Given the description of an element on the screen output the (x, y) to click on. 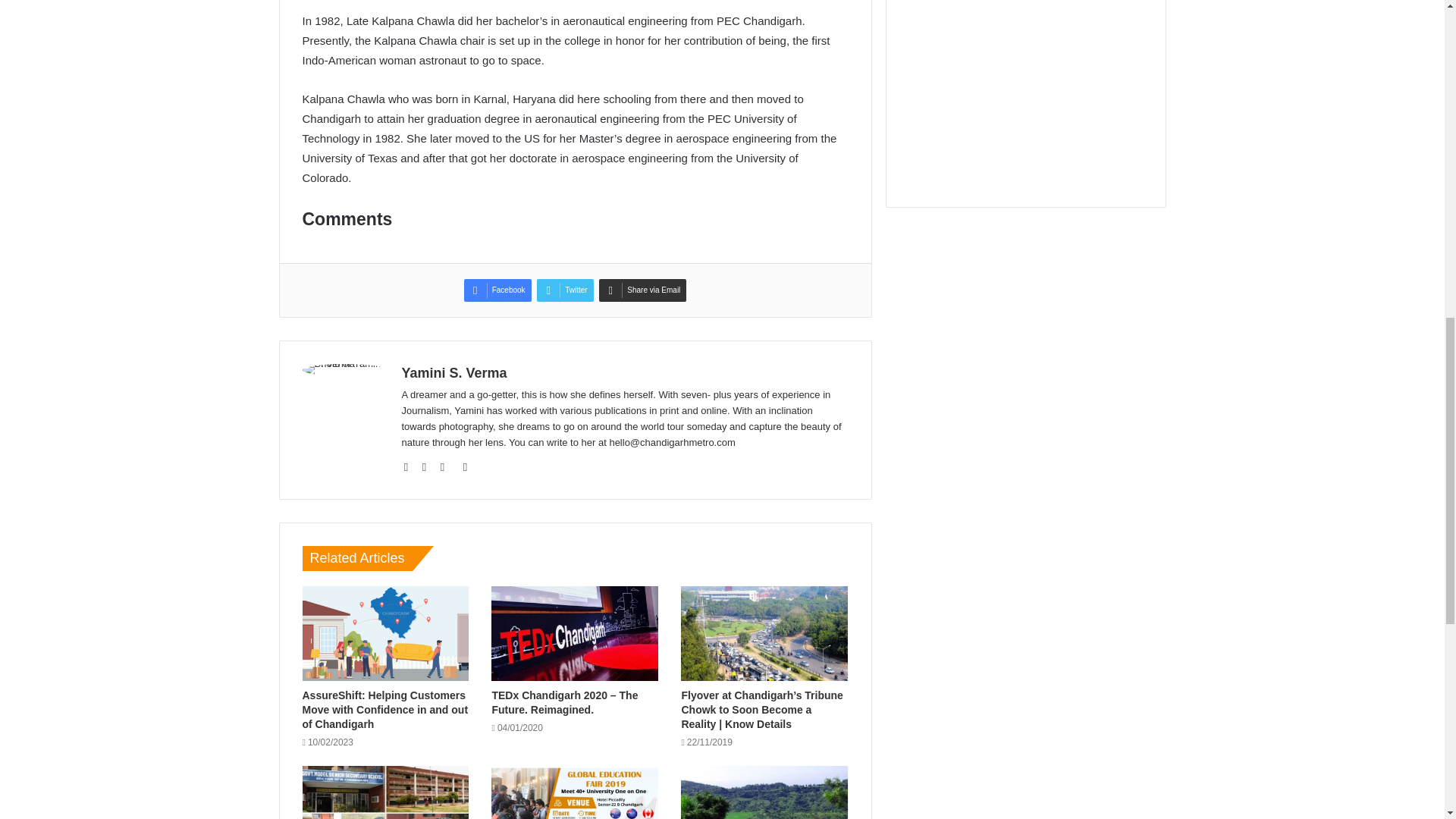
Facebook (497, 290)
Twitter (564, 290)
Yamini S. Verma (453, 372)
Twitter (564, 290)
Share via Email (641, 290)
Share via Email (641, 290)
Website (410, 466)
Facebook (497, 290)
